Given the description of an element on the screen output the (x, y) to click on. 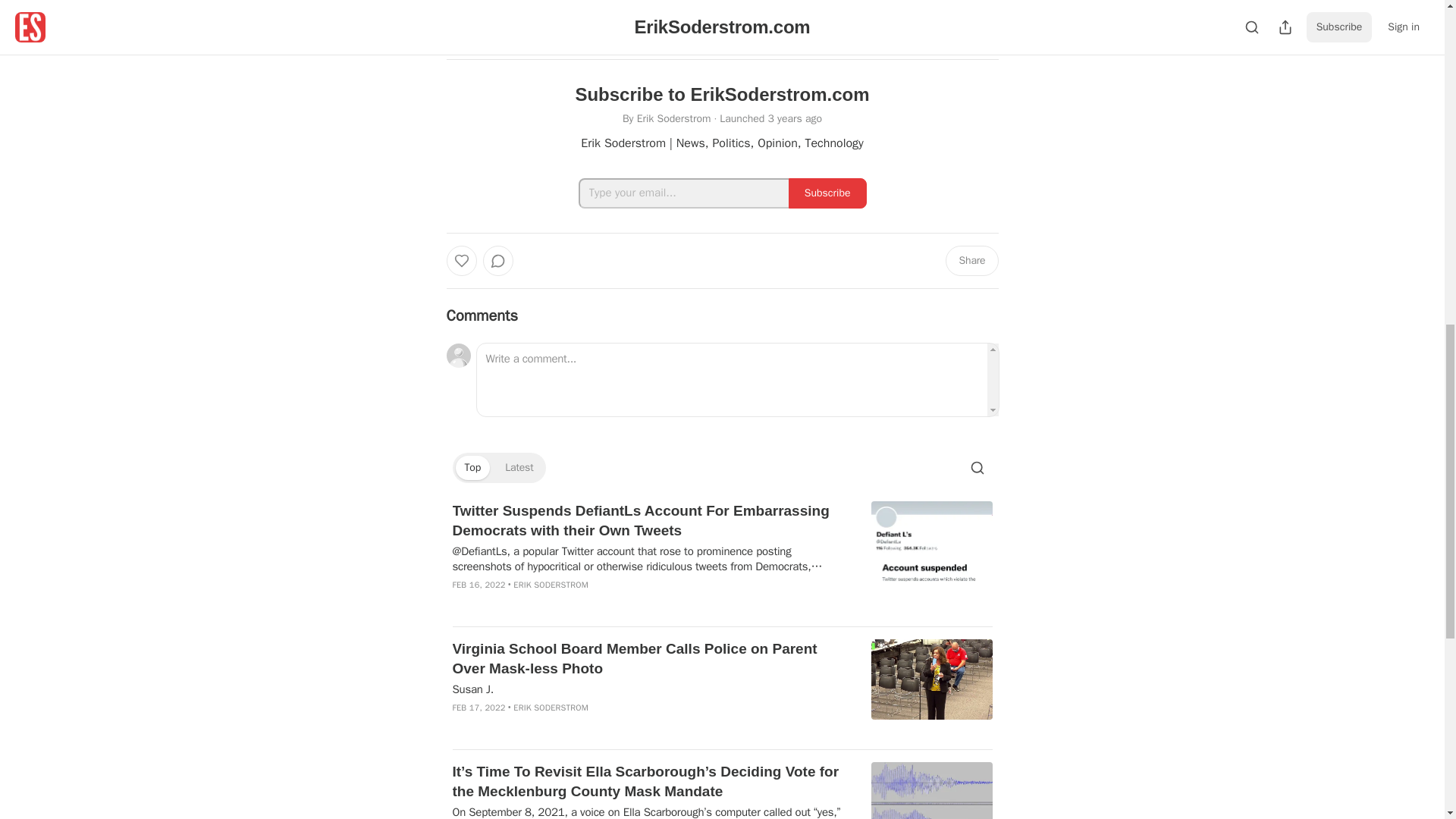
Share (970, 260)
ERIK SODERSTROM (550, 584)
Latest (518, 467)
Subscribe (827, 193)
Top (471, 467)
